Given the description of an element on the screen output the (x, y) to click on. 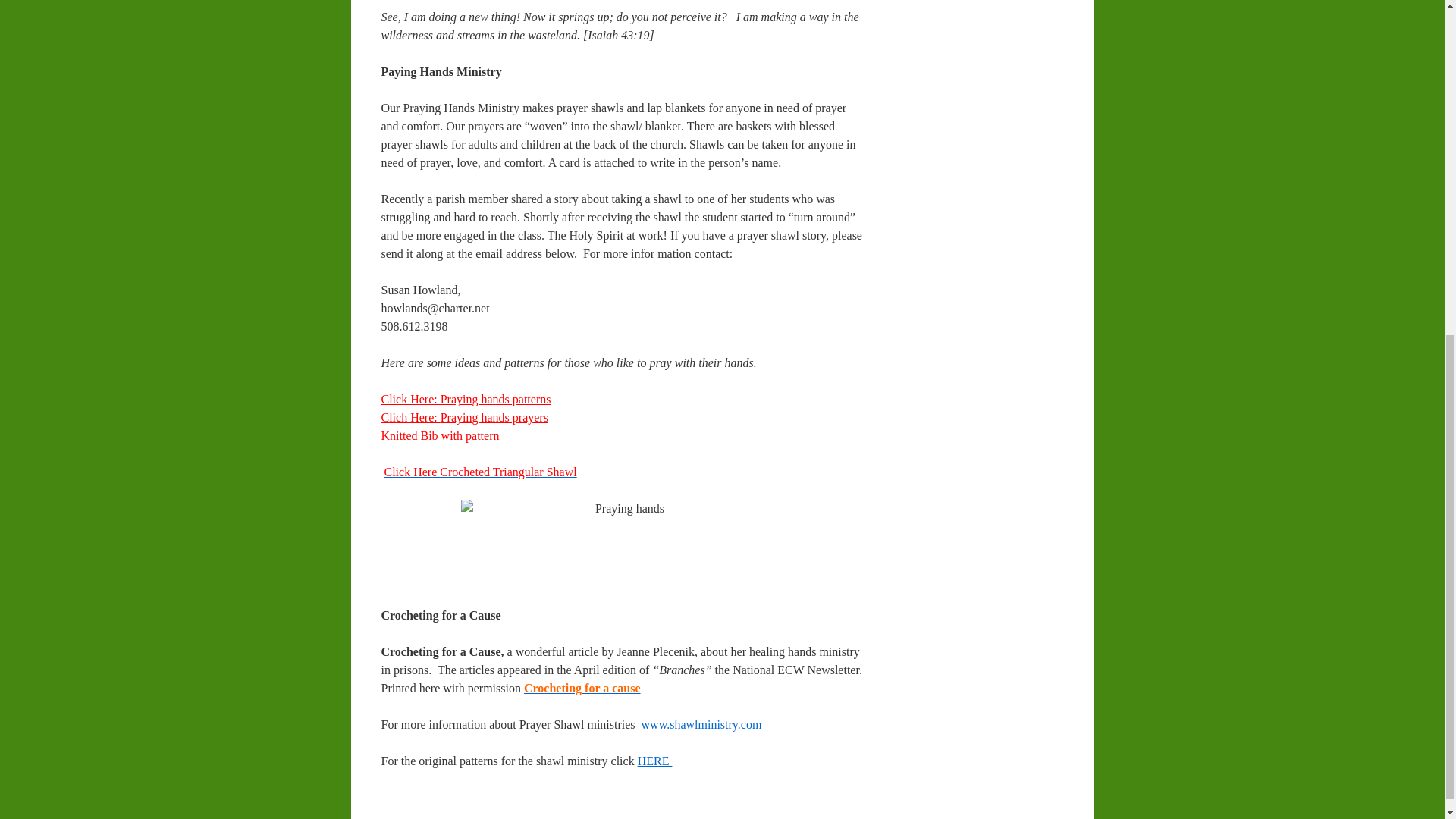
Praying hands prayers (494, 417)
Praying Hands Prayers 2 (409, 417)
Crocheting for a cause (582, 687)
